Given the description of an element on the screen output the (x, y) to click on. 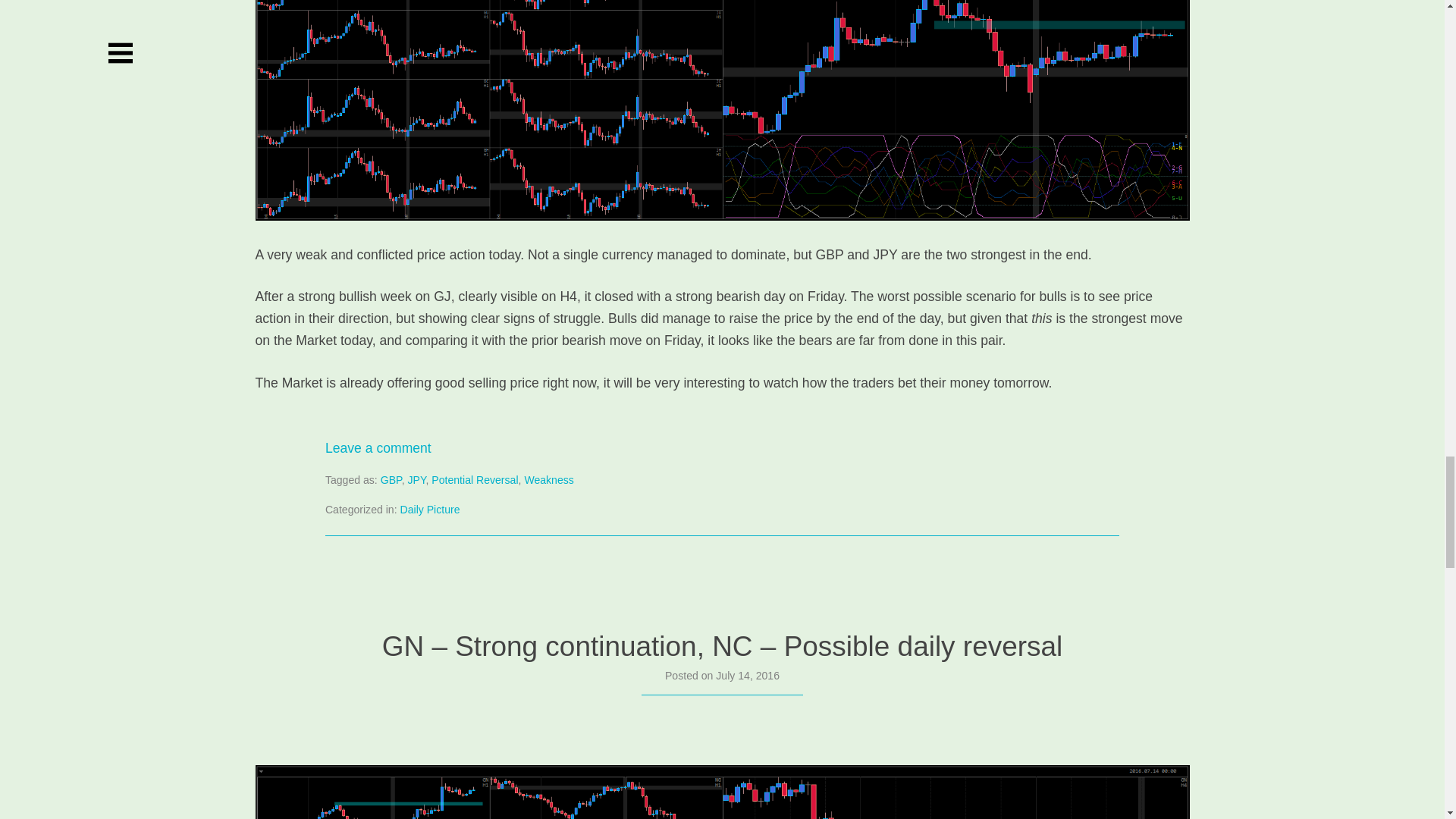
JPY (416, 480)
Daily Picture (430, 509)
Potential Reversal (474, 480)
Weakness (548, 480)
July 14, 2016 (747, 675)
Leave a comment (377, 447)
GBP (390, 480)
